Given the description of an element on the screen output the (x, y) to click on. 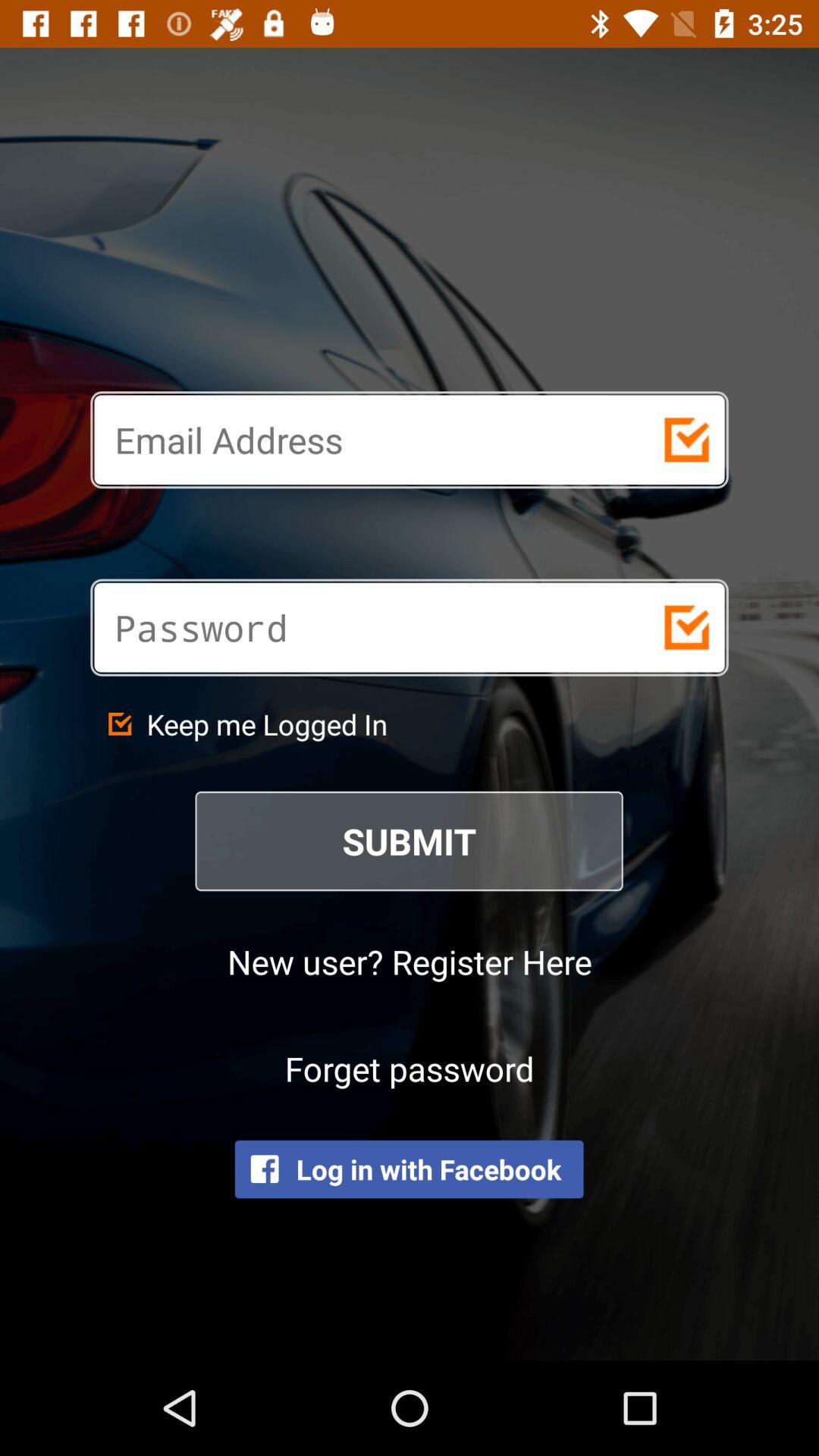
turn on new user register (409, 961)
